Given the description of an element on the screen output the (x, y) to click on. 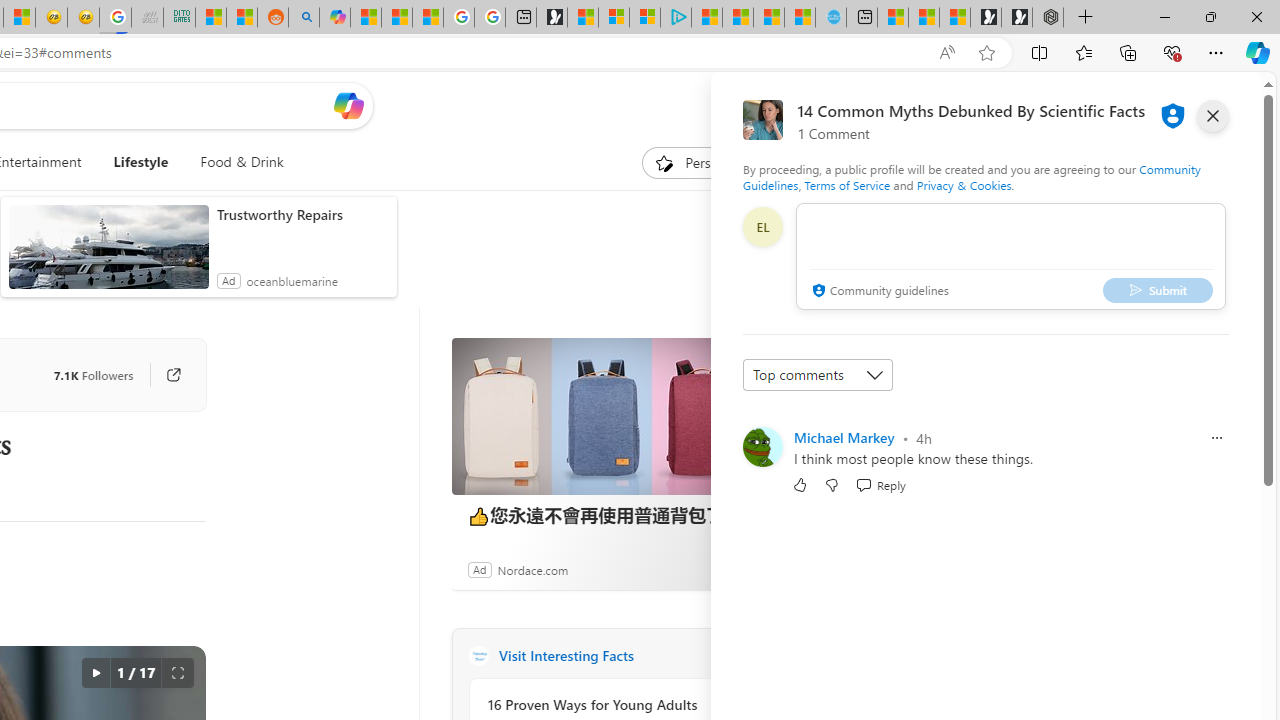
DITOGAMES AG Imprint (178, 17)
Trustworthy Repairs (302, 214)
